Given the description of an element on the screen output the (x, y) to click on. 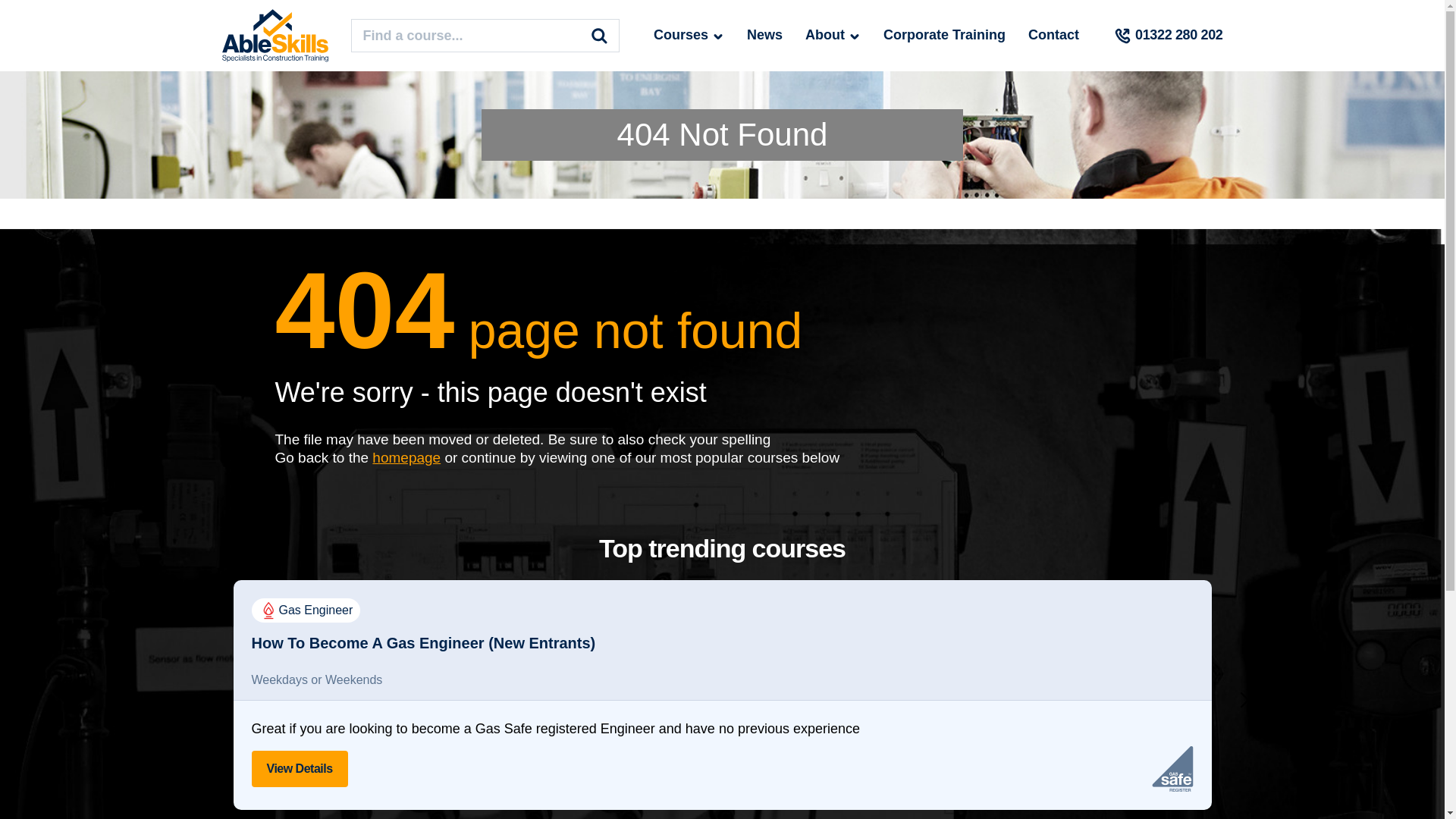
Gas Safe (1171, 768)
AbleSkills (274, 35)
Contact (1052, 35)
News (764, 35)
Corporate Training (944, 35)
Search (598, 35)
